Given the description of an element on the screen output the (x, y) to click on. 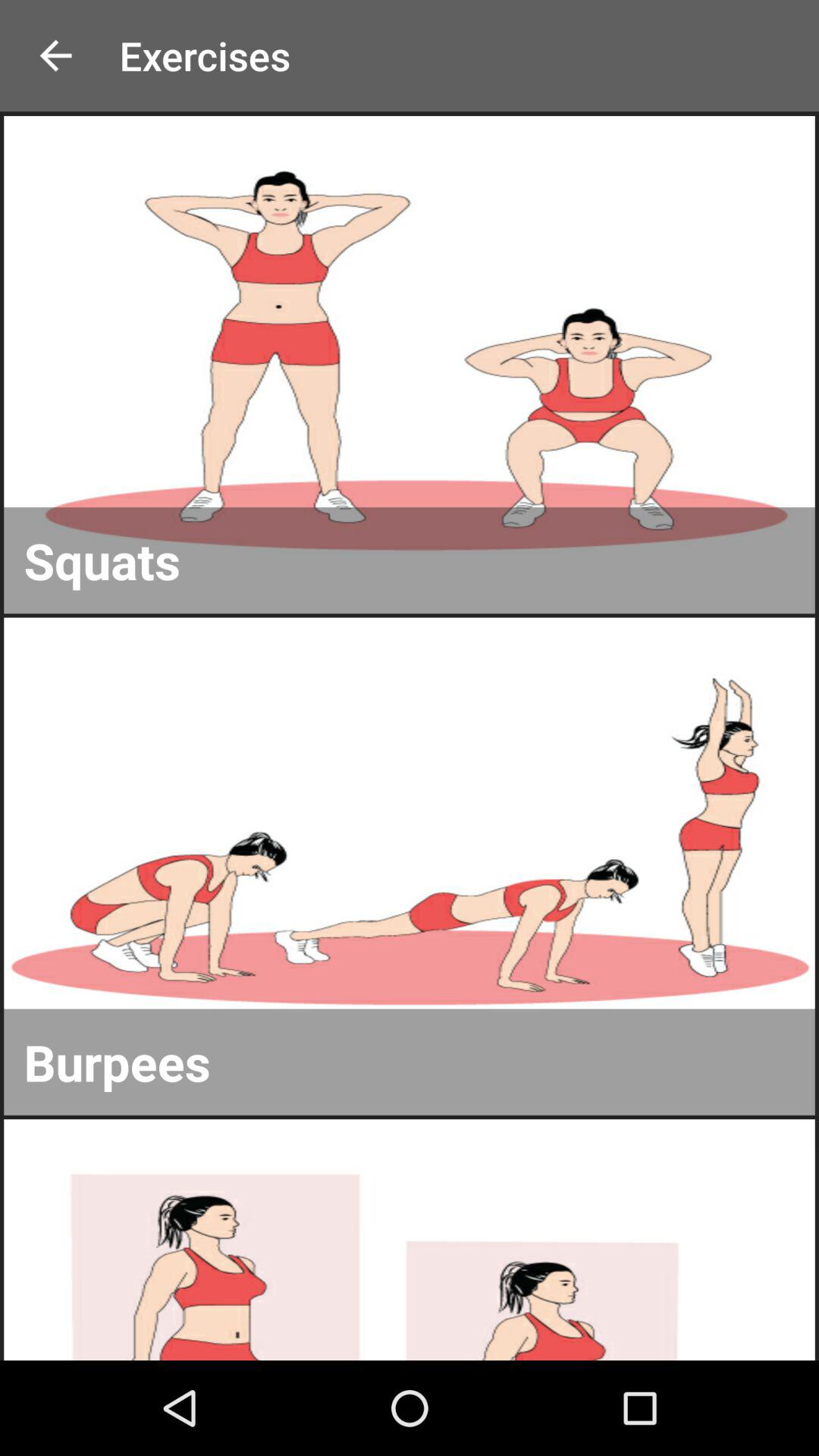
launch burpees app (409, 1061)
